Given the description of an element on the screen output the (x, y) to click on. 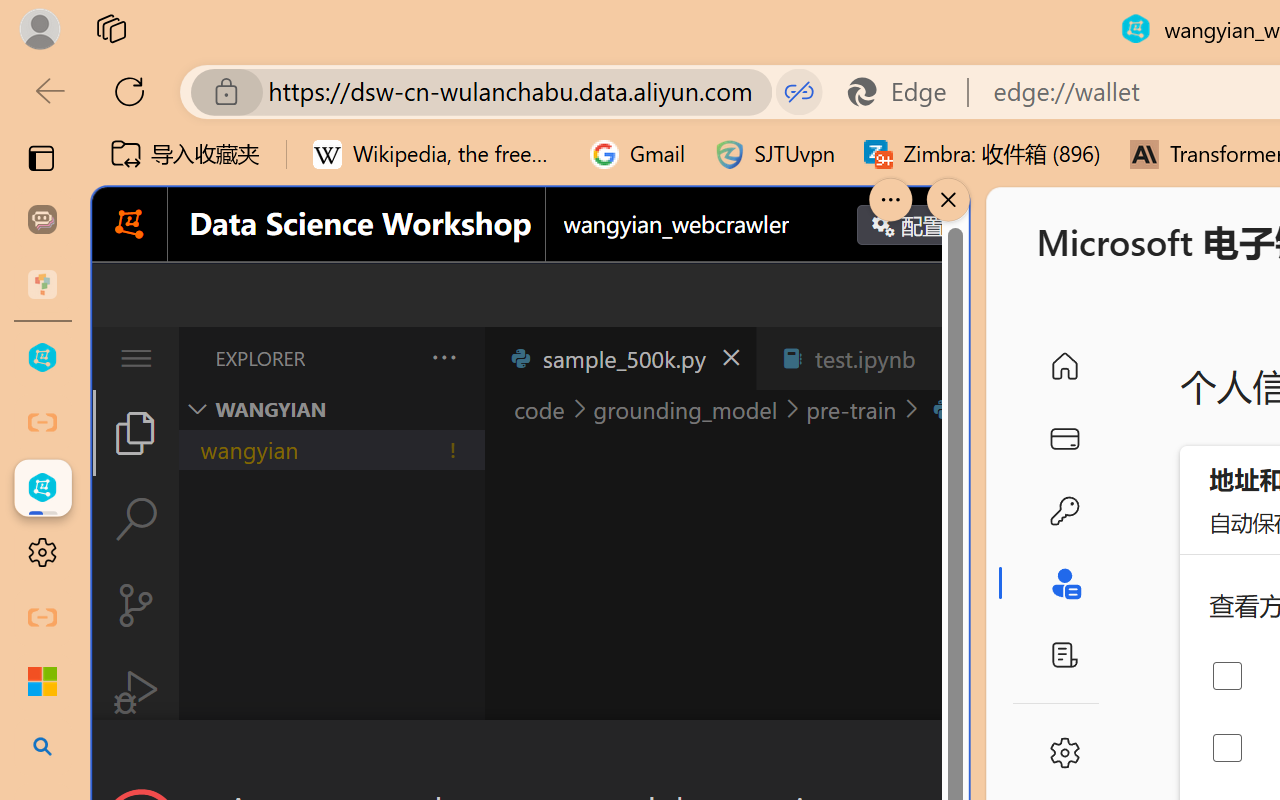
Views and More Actions... (442, 357)
Class: menubar compact overflow-menu-only (135, 358)
Edge (905, 91)
Gmail (637, 154)
Application Menu (135, 358)
wangyian_webcrawler - DSW (42, 487)
